Given the description of an element on the screen output the (x, y) to click on. 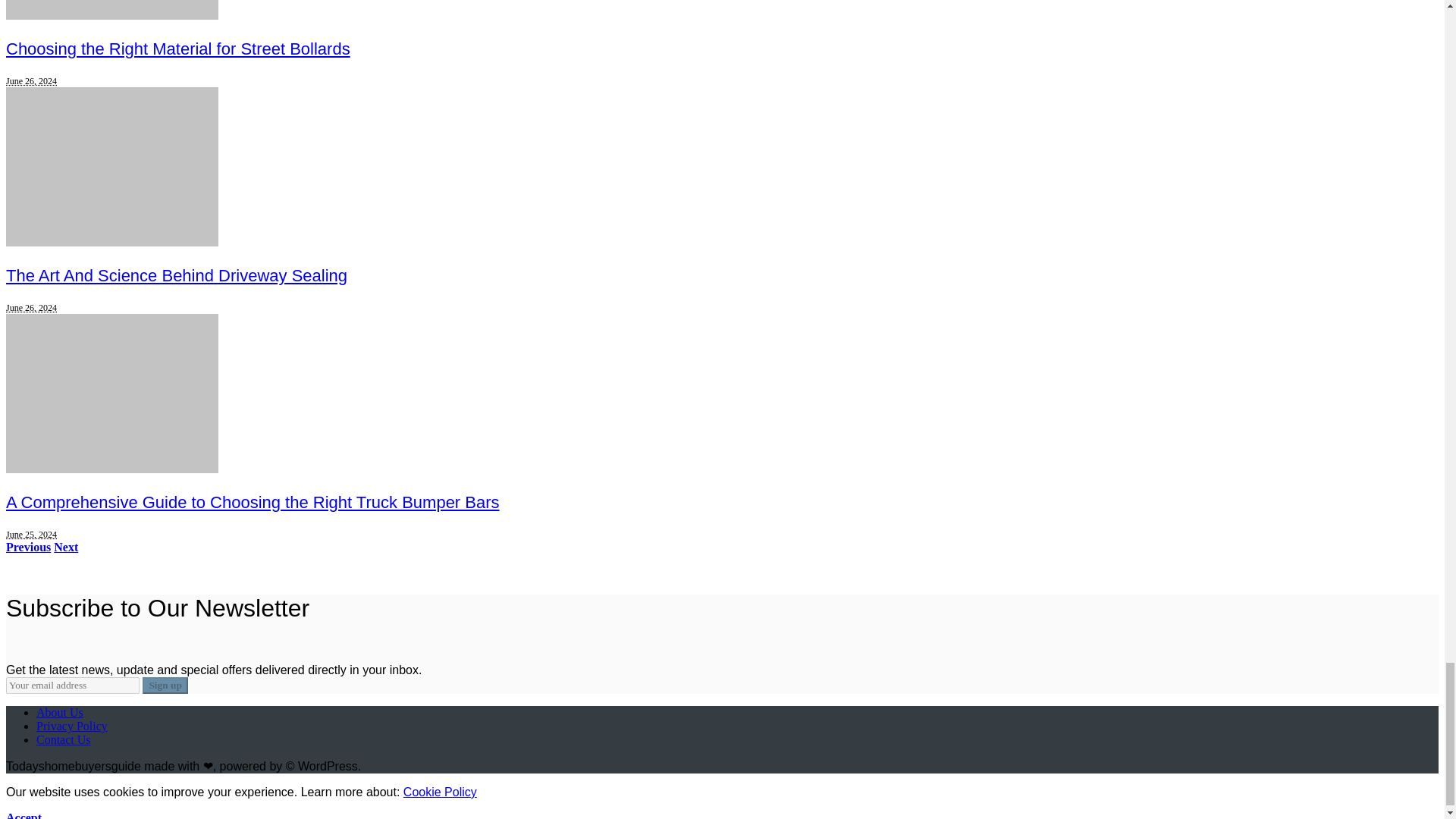
Sign up (164, 685)
